Given the description of an element on the screen output the (x, y) to click on. 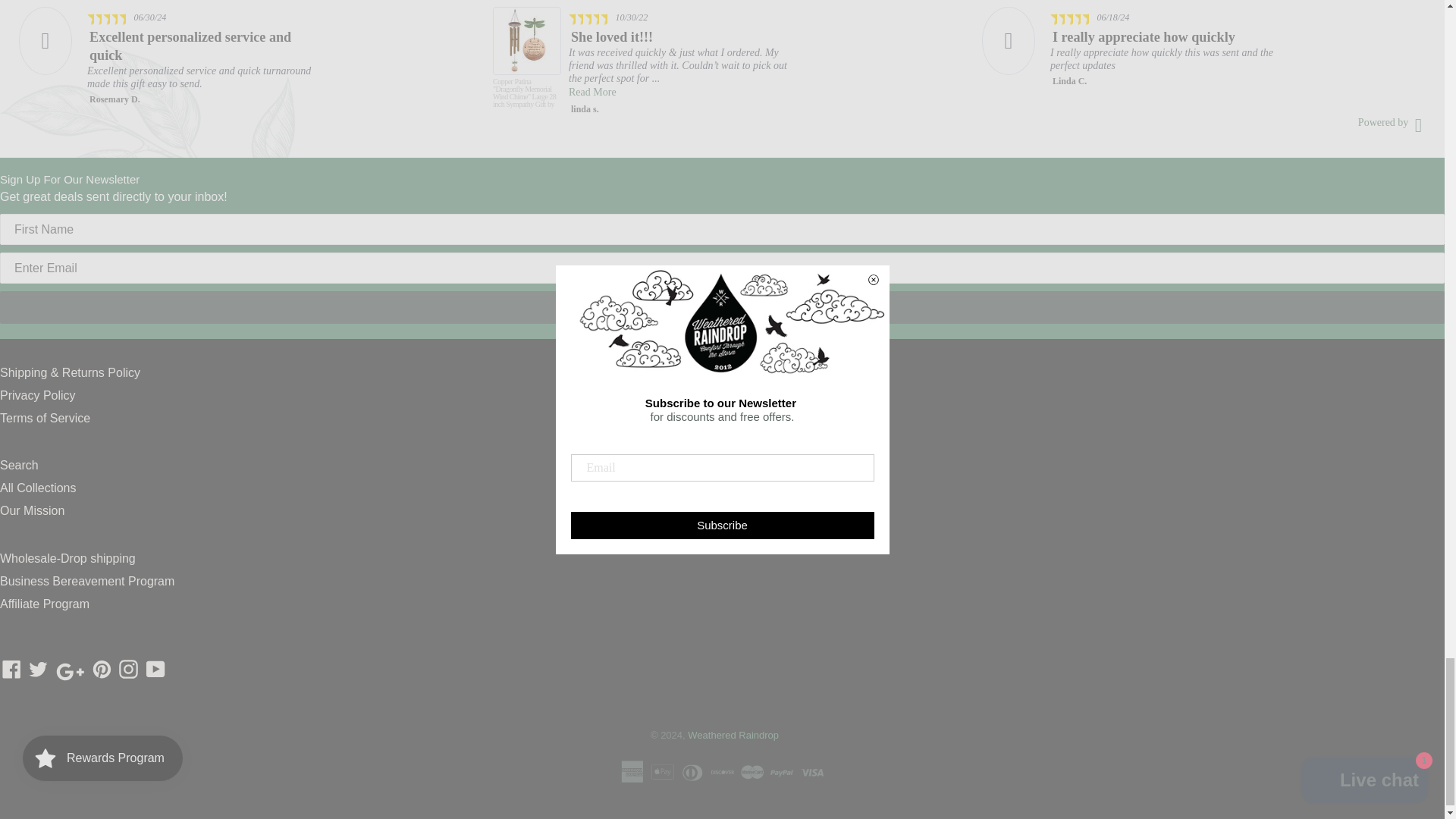
Weathered Raindrop on Instagram (127, 671)
Weathered Raindrop on YouTube (155, 671)
Weathered Raindrop on Facebook (11, 671)
Weathered Raindrop on Twitter (37, 671)
Weathered Raindrop on Pinterest (101, 671)
Weathered Raindrop on Google (70, 671)
